Given the description of an element on the screen output the (x, y) to click on. 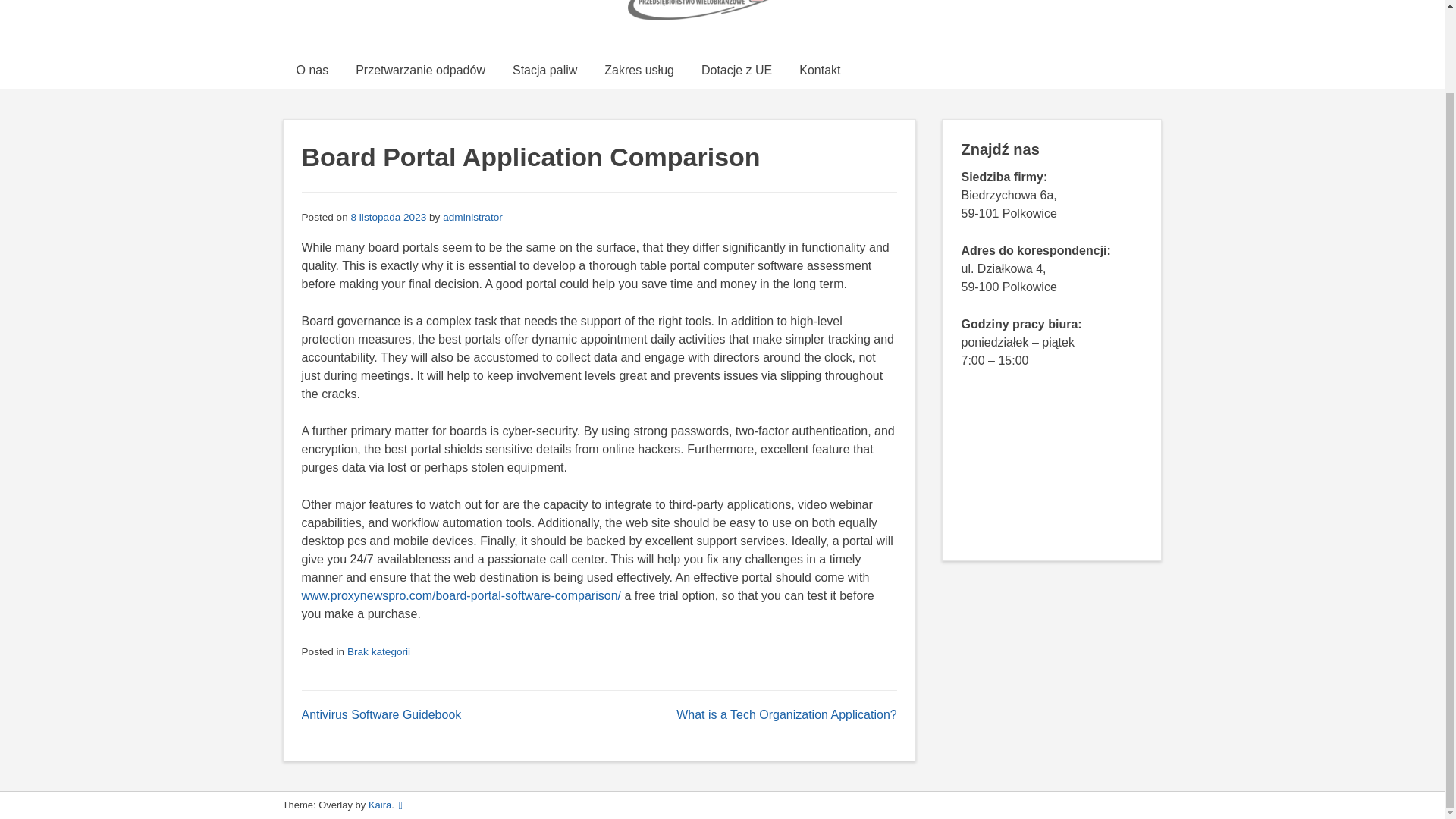
8 listopada 2023 (388, 216)
O nas (312, 70)
Kontakt (819, 70)
Stacja paliw (545, 70)
Dotacje z UE (736, 70)
Kaira (379, 805)
What is a Tech Organization Application? (786, 714)
Antivirus Software Guidebook (381, 714)
administrator (472, 216)
Brak kategorii (378, 651)
